Given the description of an element on the screen output the (x, y) to click on. 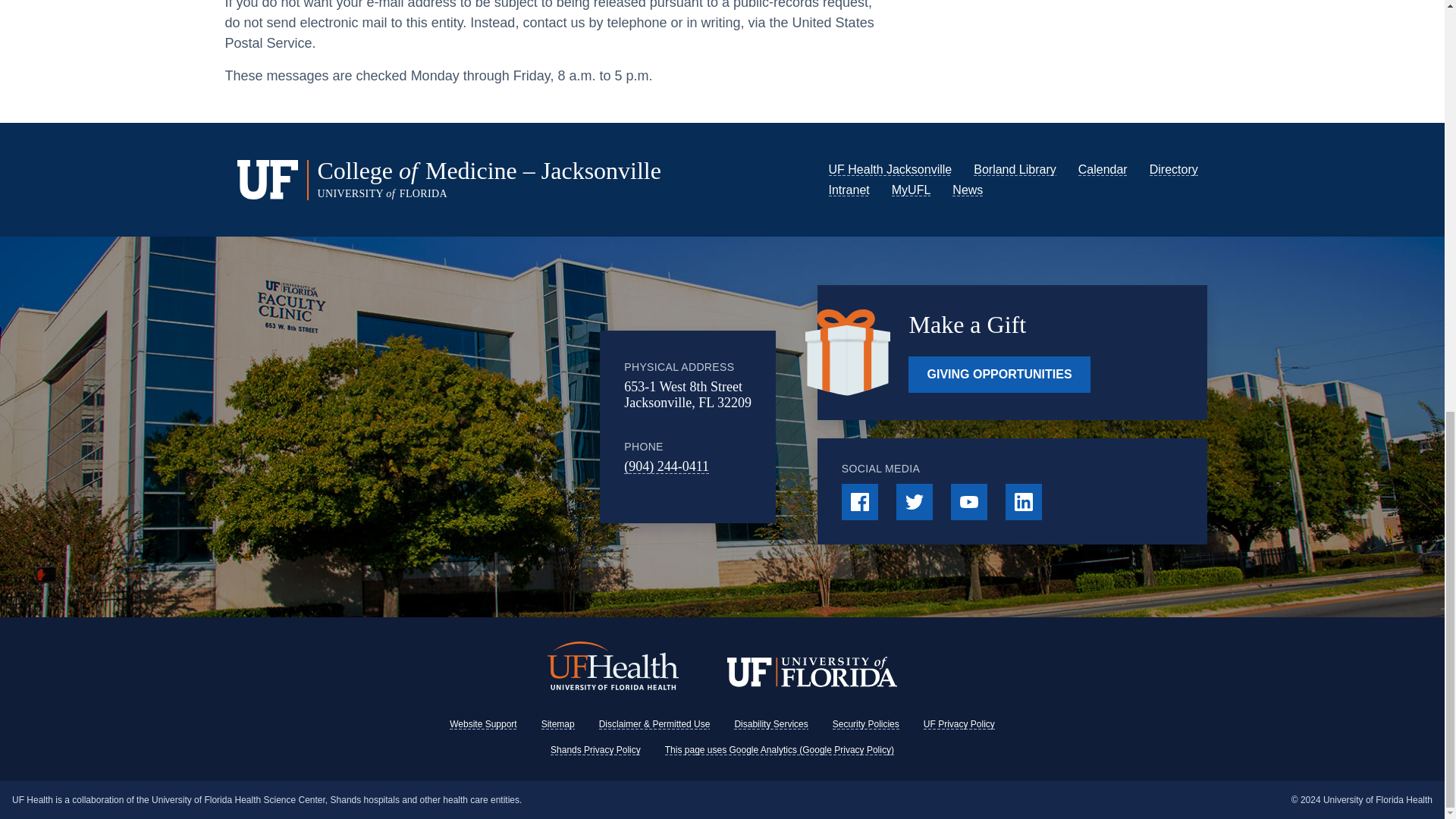
Sitemap (558, 724)
News (967, 189)
Borland Health Science Library (1015, 169)
UF Privacy Policy (958, 724)
Shands Privacy Policy (595, 749)
MyUFL (911, 189)
Security Policies (865, 724)
Website Support (482, 724)
Calendar (1102, 169)
Disability Services (770, 724)
University of Florida Health Jacksonville (890, 169)
Directory (1174, 169)
Intranet (848, 189)
